Given the description of an element on the screen output the (x, y) to click on. 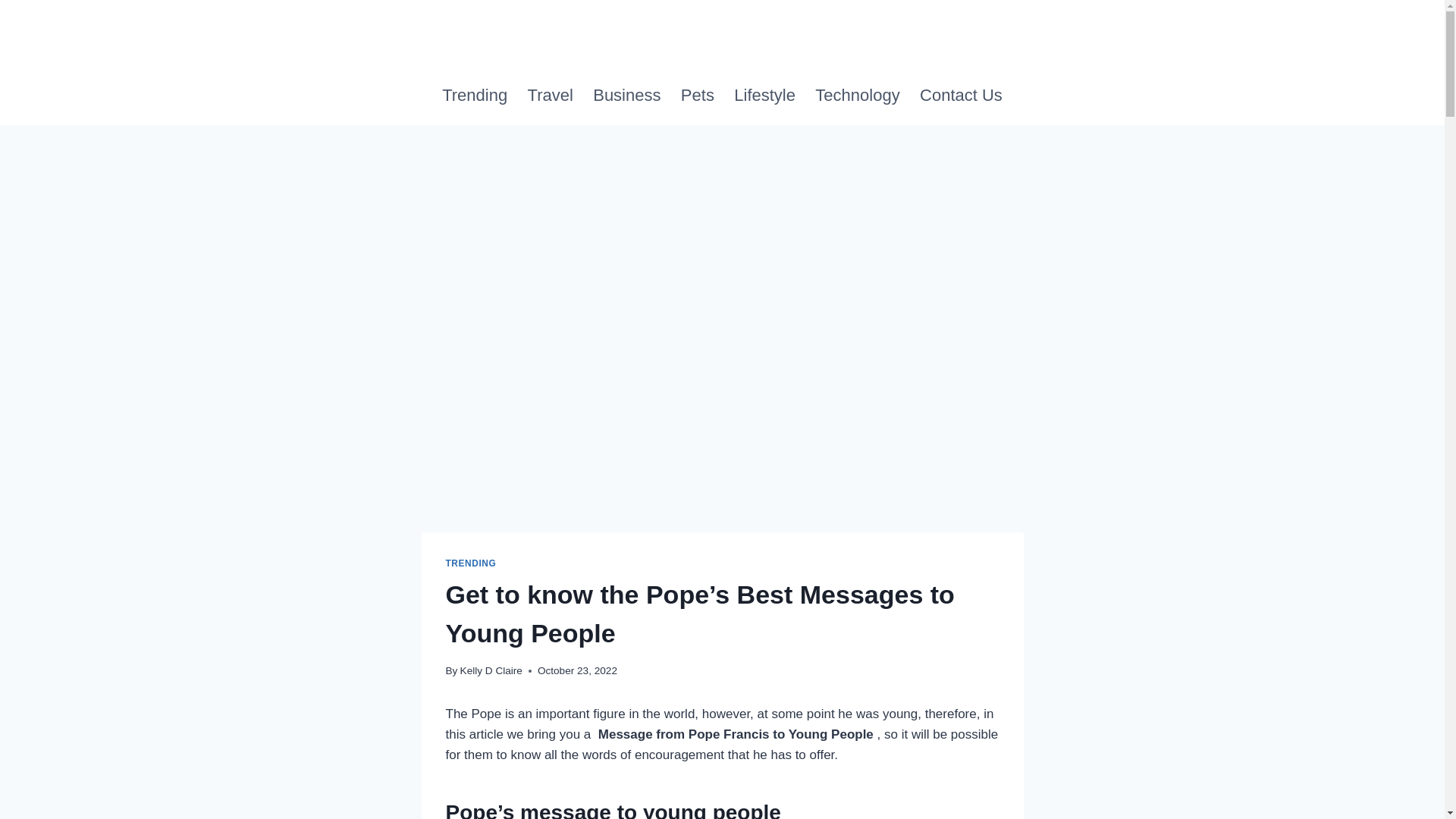
TRENDING (470, 562)
Kelly D Claire (491, 670)
Trending (474, 95)
Lifestyle (764, 95)
Business (627, 95)
Technology (857, 95)
Pets (697, 95)
Travel (549, 95)
Contact Us (960, 95)
